Given the description of an element on the screen output the (x, y) to click on. 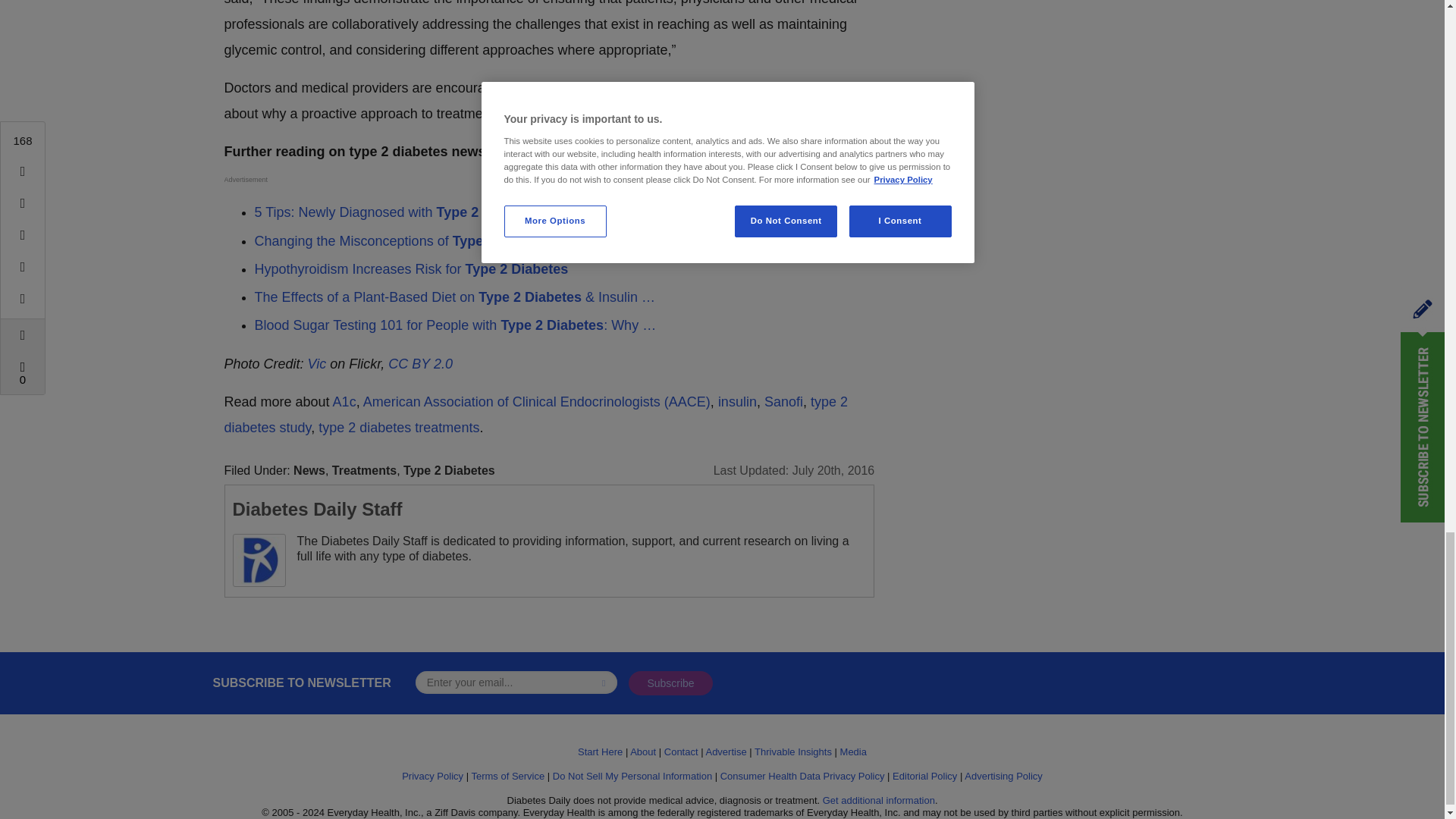
All posts by Diabetes Daily Staff (316, 508)
